Given the description of an element on the screen output the (x, y) to click on. 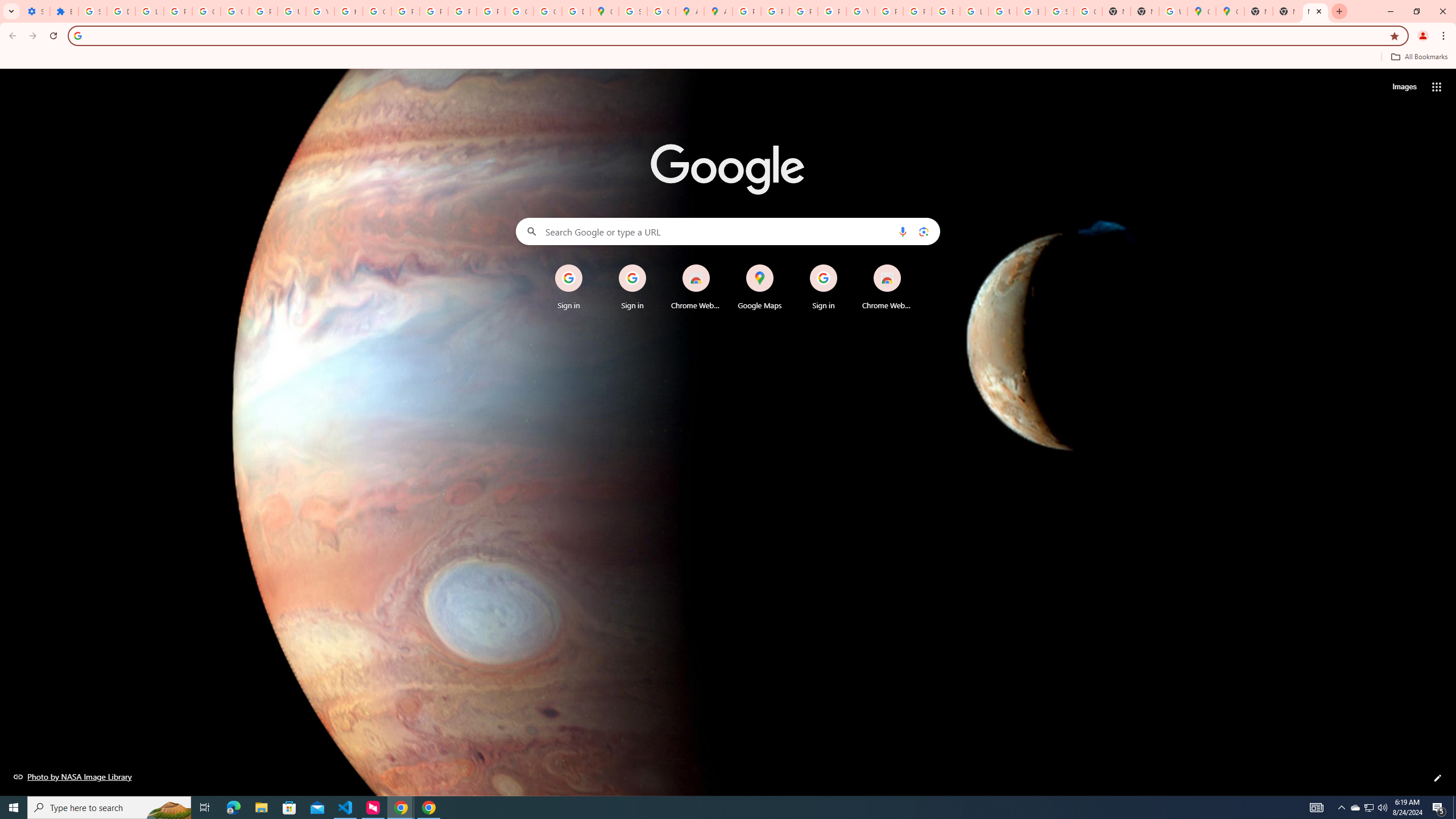
Browse Chrome as a guest - Computer - Google Chrome Help (945, 11)
You (1422, 35)
Settings - On startup (35, 11)
Google Maps (760, 287)
New Tab (1258, 11)
Search Google or type a URL (727, 230)
All Bookmarks (1418, 56)
Google Account Help (206, 11)
Learn how to find your photos - Google Photos Help (148, 11)
YouTube (320, 11)
